Given the description of an element on the screen output the (x, y) to click on. 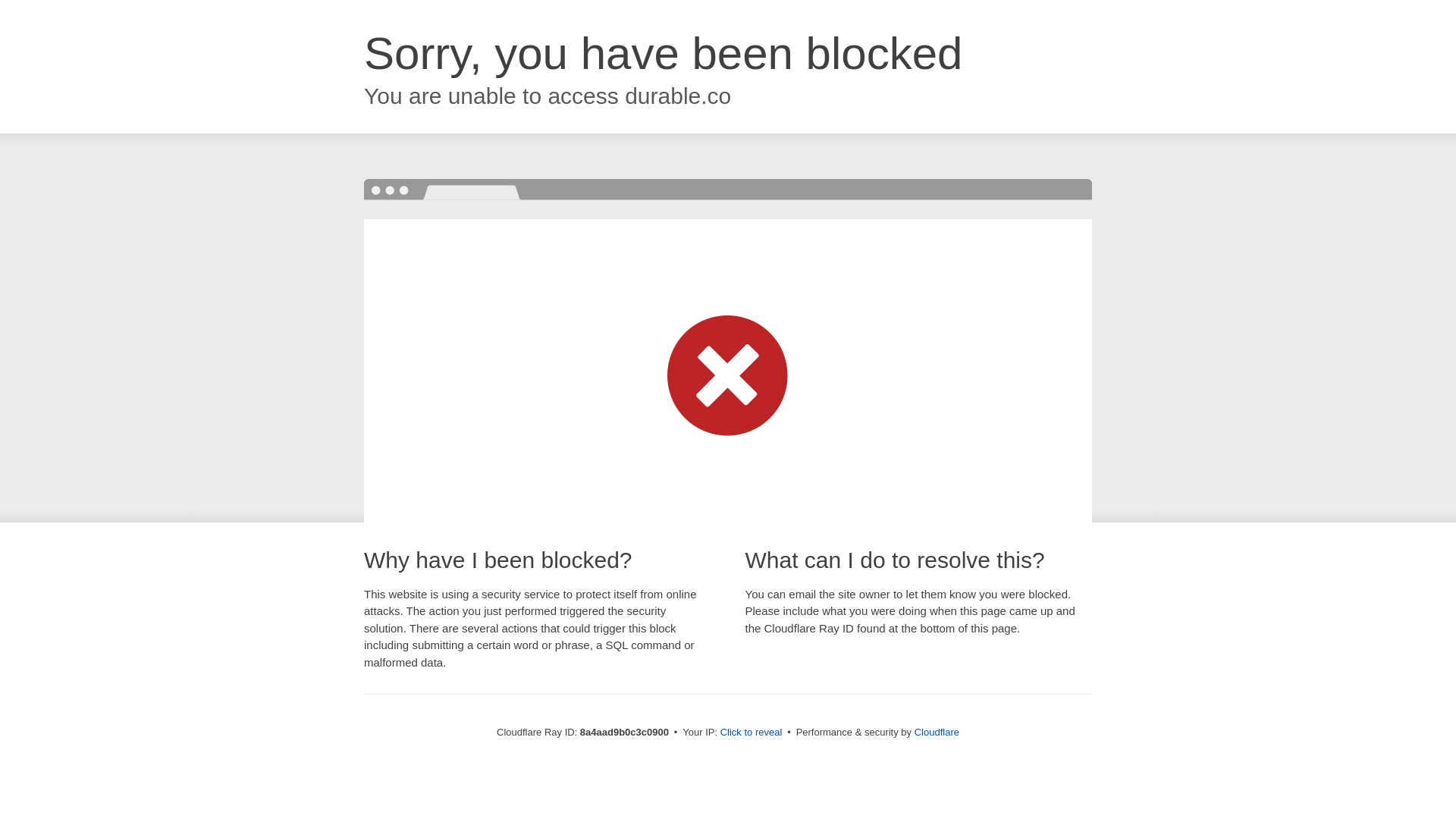
Cloudflare (936, 731)
Click to reveal (751, 732)
